Given the description of an element on the screen output the (x, y) to click on. 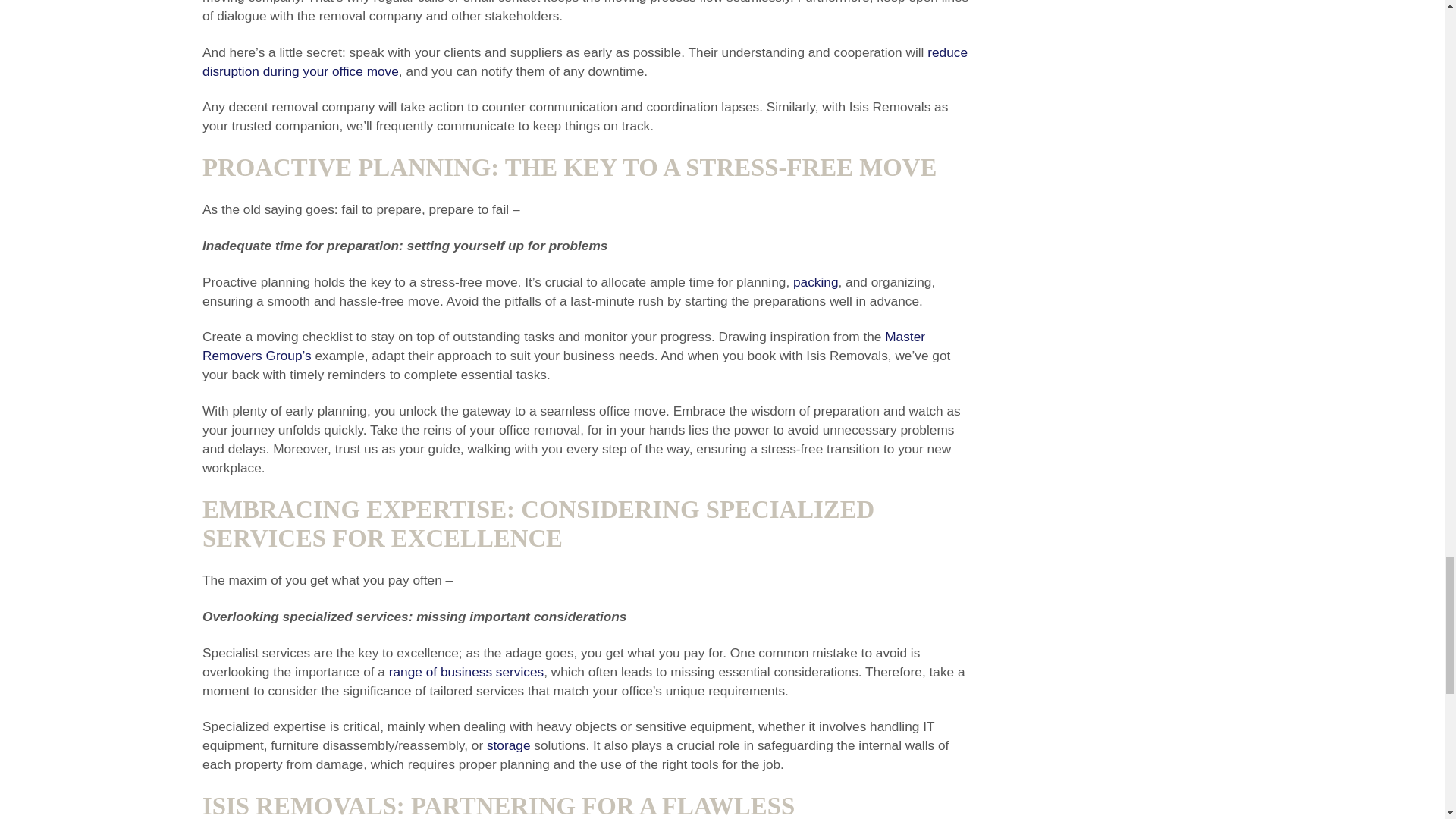
packing (815, 281)
storage (508, 744)
reduce disruption during your office move (585, 61)
range of business services (465, 671)
